Given the description of an element on the screen output the (x, y) to click on. 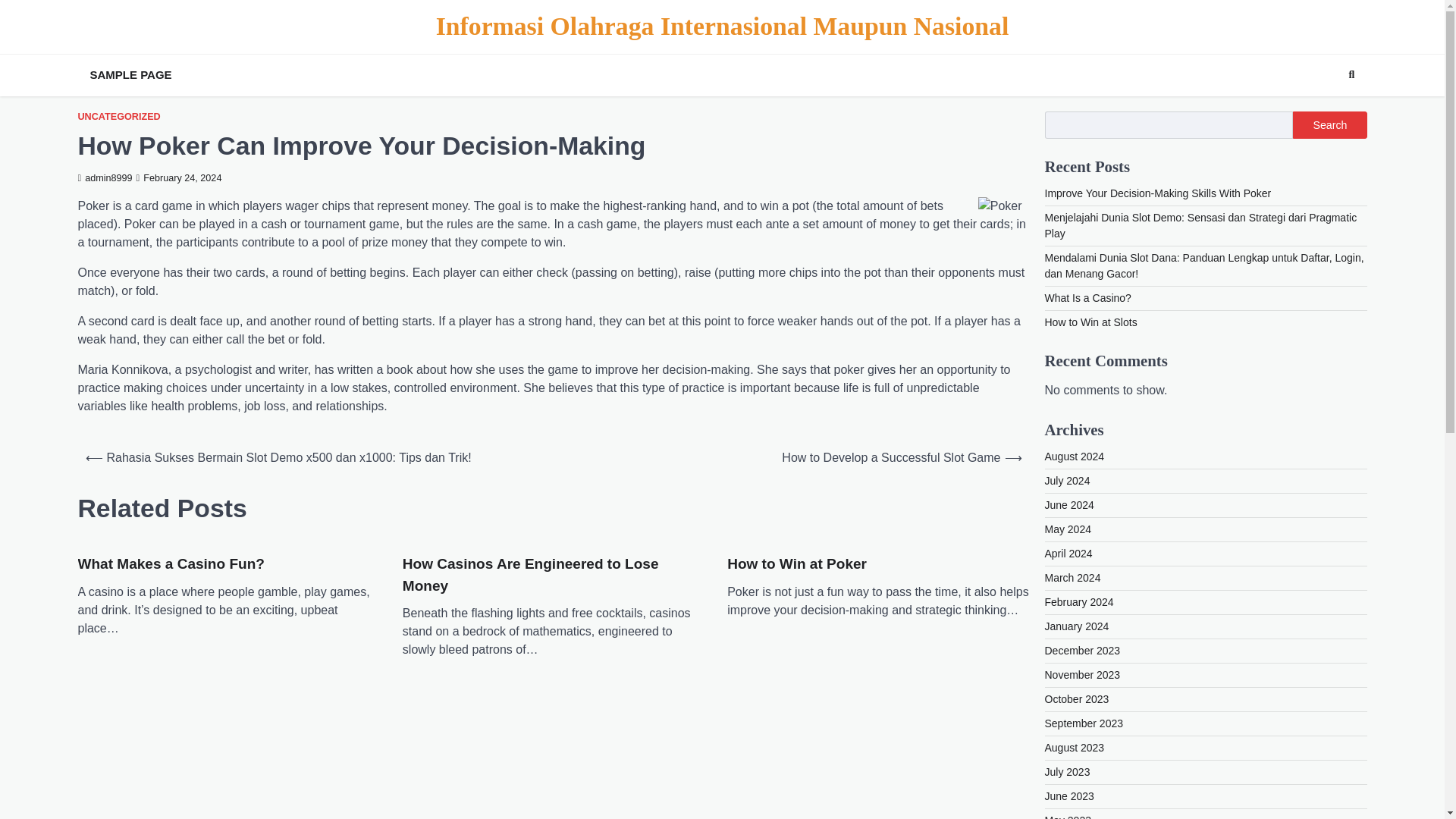
April 2024 (1069, 553)
How to Win at Poker (796, 564)
June 2024 (1069, 504)
June 2023 (1069, 796)
How to Win at Slots (1091, 322)
July 2024 (1067, 480)
What Makes a Casino Fun? (170, 564)
SAMPLE PAGE (129, 75)
August 2023 (1075, 747)
December 2023 (1083, 650)
